Given the description of an element on the screen output the (x, y) to click on. 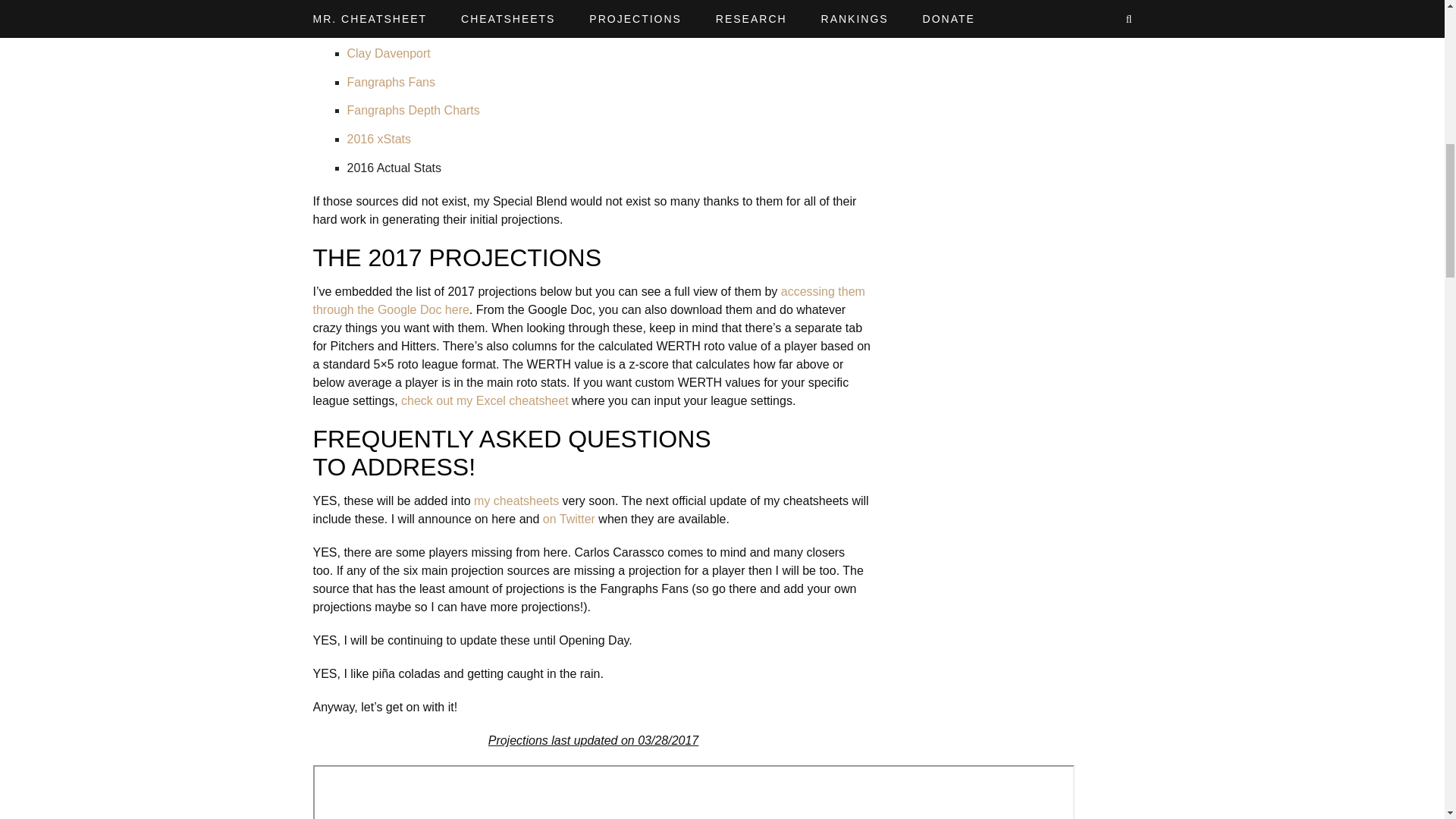
check out my Excel cheatsheet (485, 400)
CAIRO (366, 1)
ZiPS (360, 24)
accessing them through the Google Doc here (588, 300)
Fangraphs Fans (391, 82)
Fangraphs Depth Charts (413, 110)
Clay Davenport (388, 52)
2016 xStats (379, 138)
on Twitter (569, 518)
my cheatsheets (516, 500)
